Given the description of an element on the screen output the (x, y) to click on. 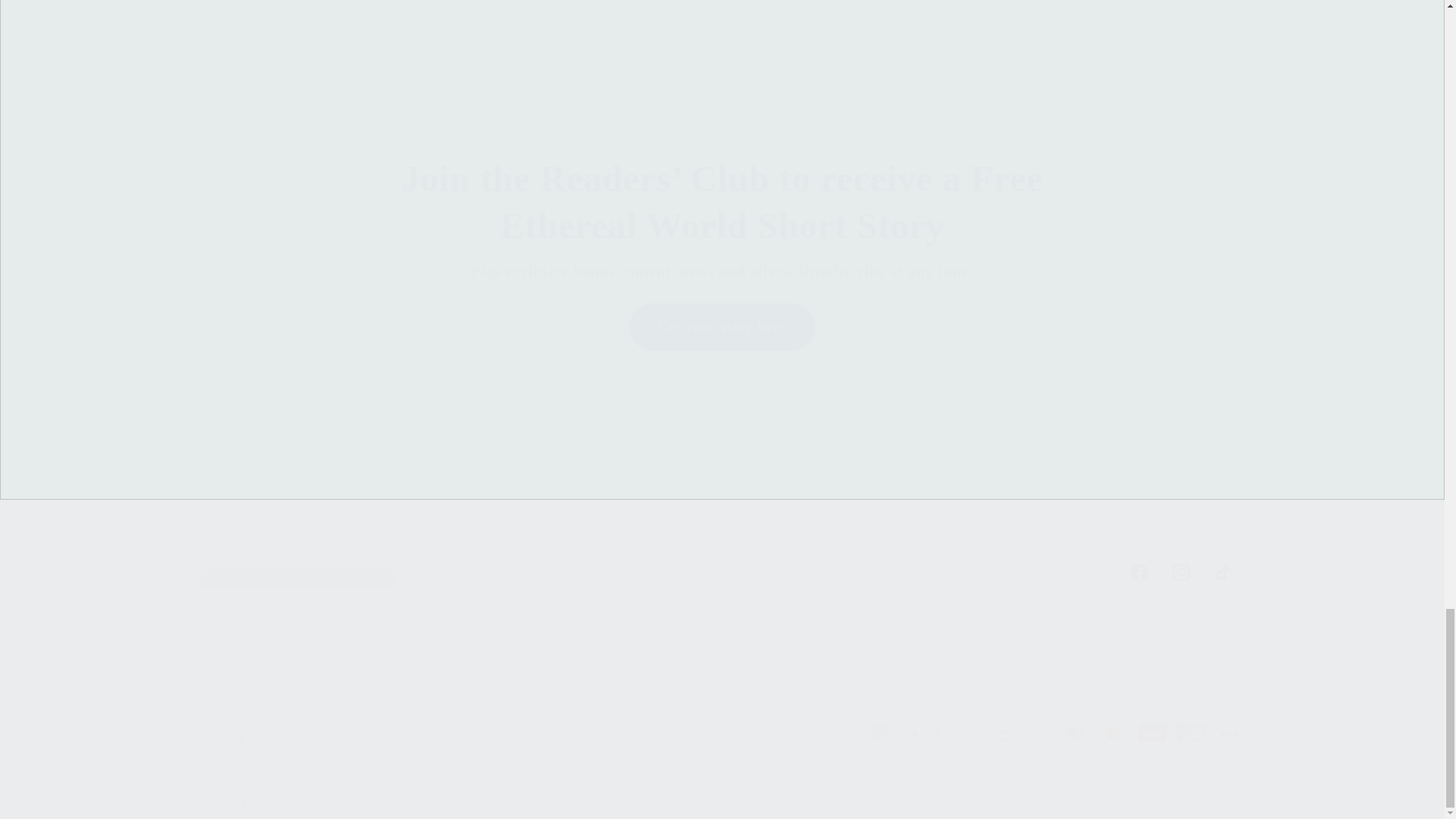
Paperbacks (721, 572)
Bundles (364, 2)
eBooks (1079, 2)
